Given the description of an element on the screen output the (x, y) to click on. 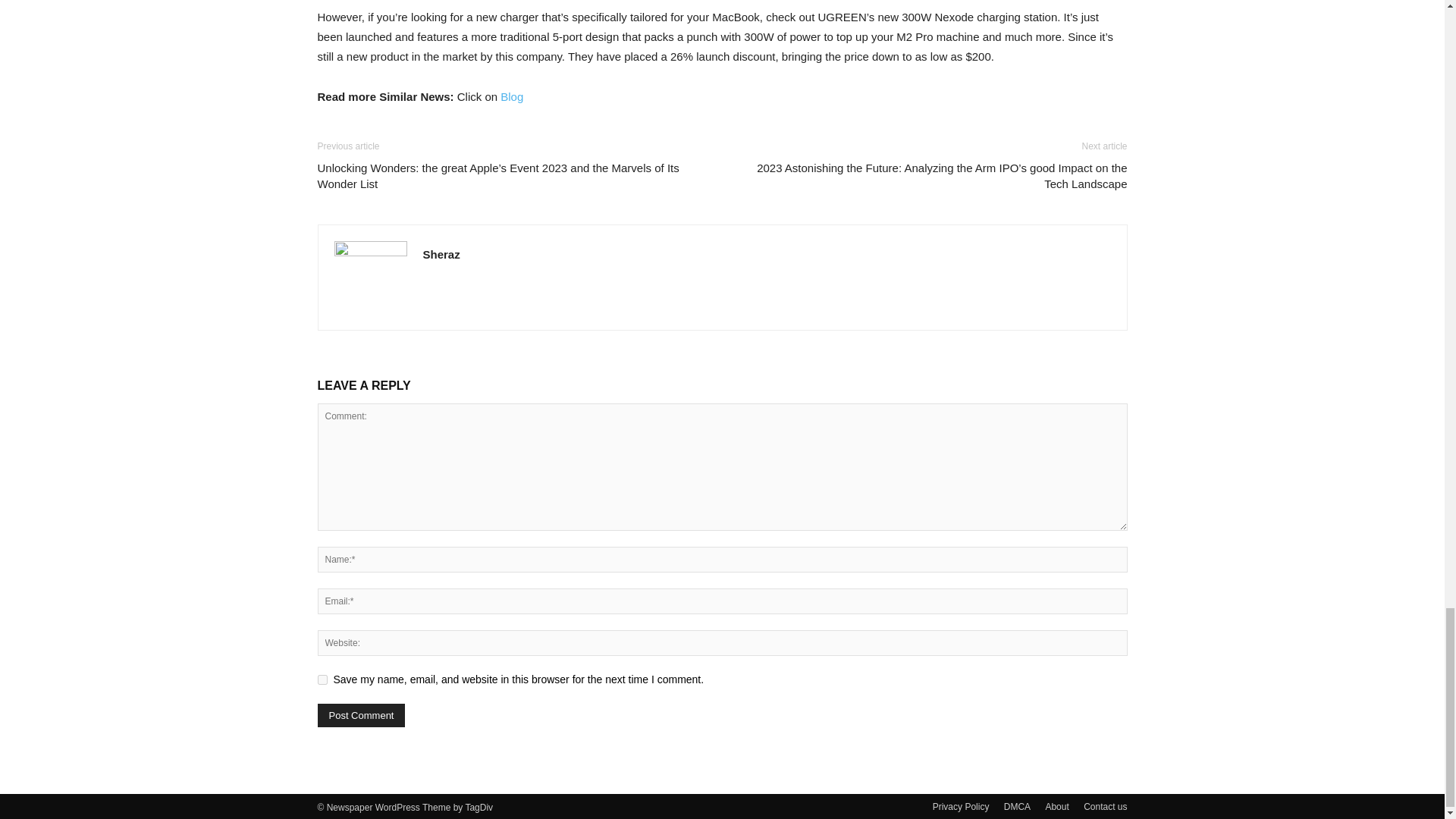
Post Comment (360, 715)
yes (321, 679)
